Given the description of an element on the screen output the (x, y) to click on. 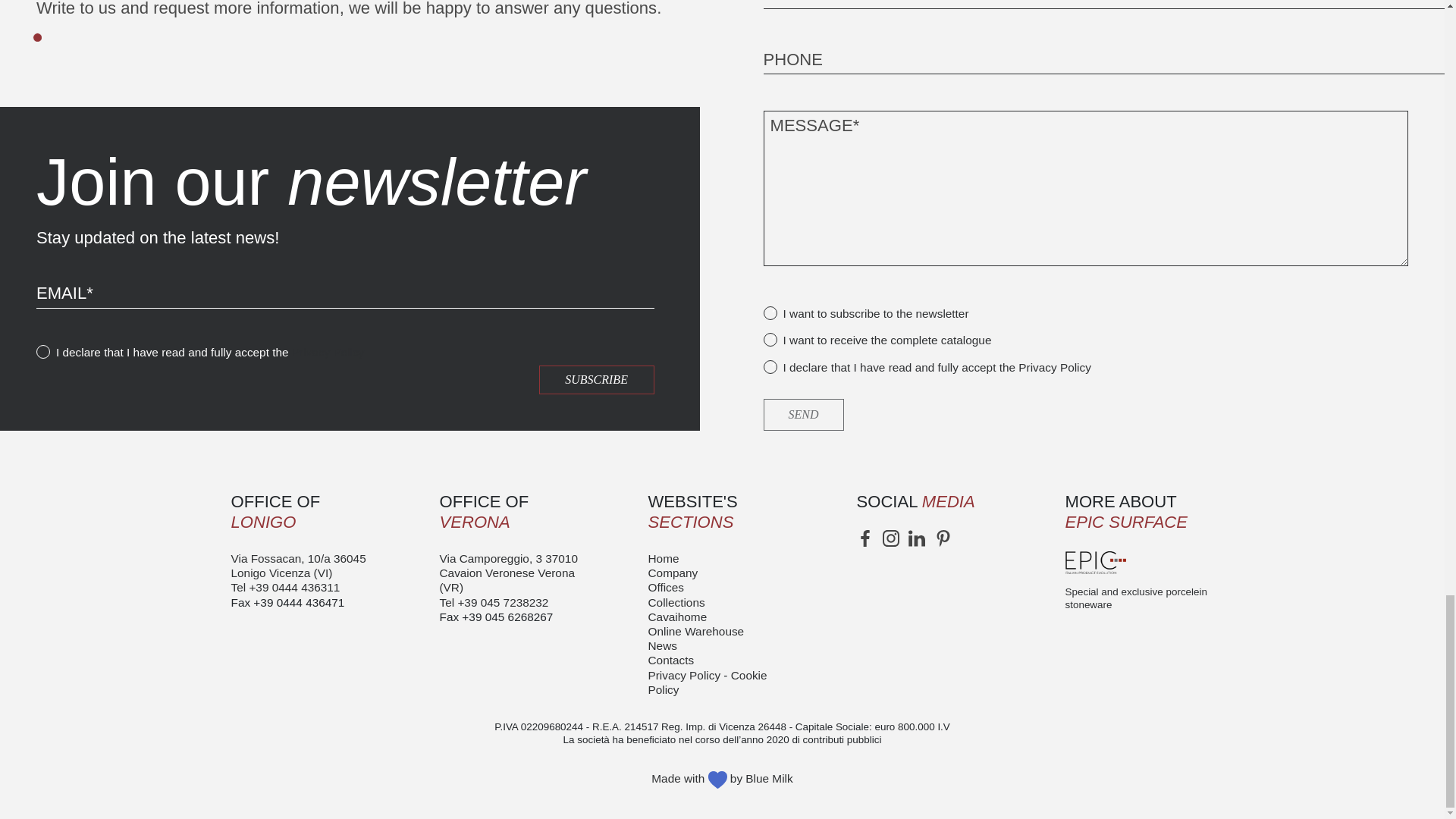
fb (865, 538)
pi (943, 538)
ig (890, 538)
Privacy Policy  (683, 675)
Cookie Policy  (707, 682)
in (916, 538)
Privacy Policy  (1053, 367)
Privacy Policy  (328, 351)
